Given the description of an element on the screen output the (x, y) to click on. 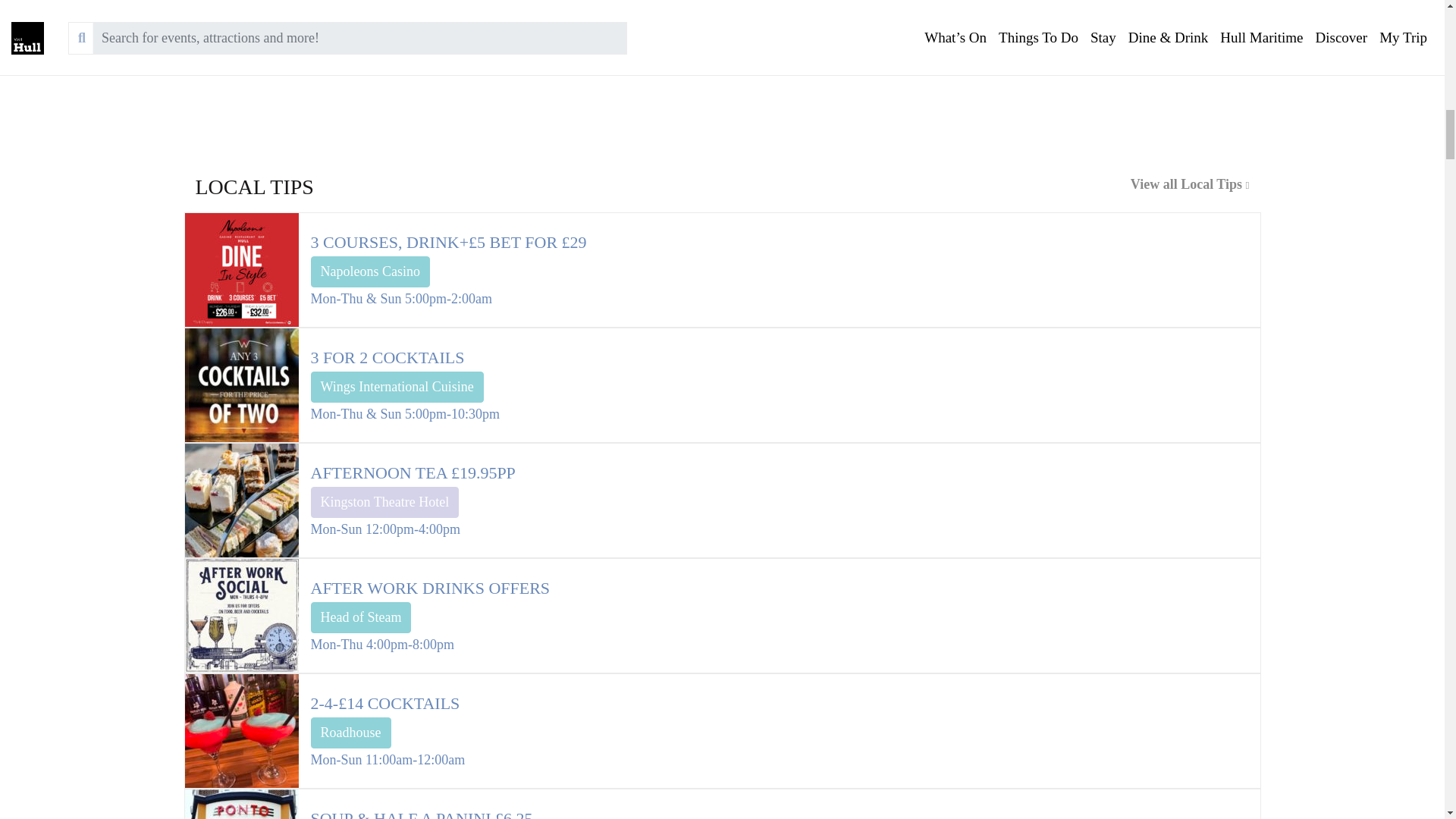
Head of Steam (361, 617)
Wings International Cuisine (397, 386)
View all Local Tips (991, 193)
Roadhouse (351, 732)
Napoleons Casino (370, 271)
Kingston Theatre Hotel (385, 501)
